Given the description of an element on the screen output the (x, y) to click on. 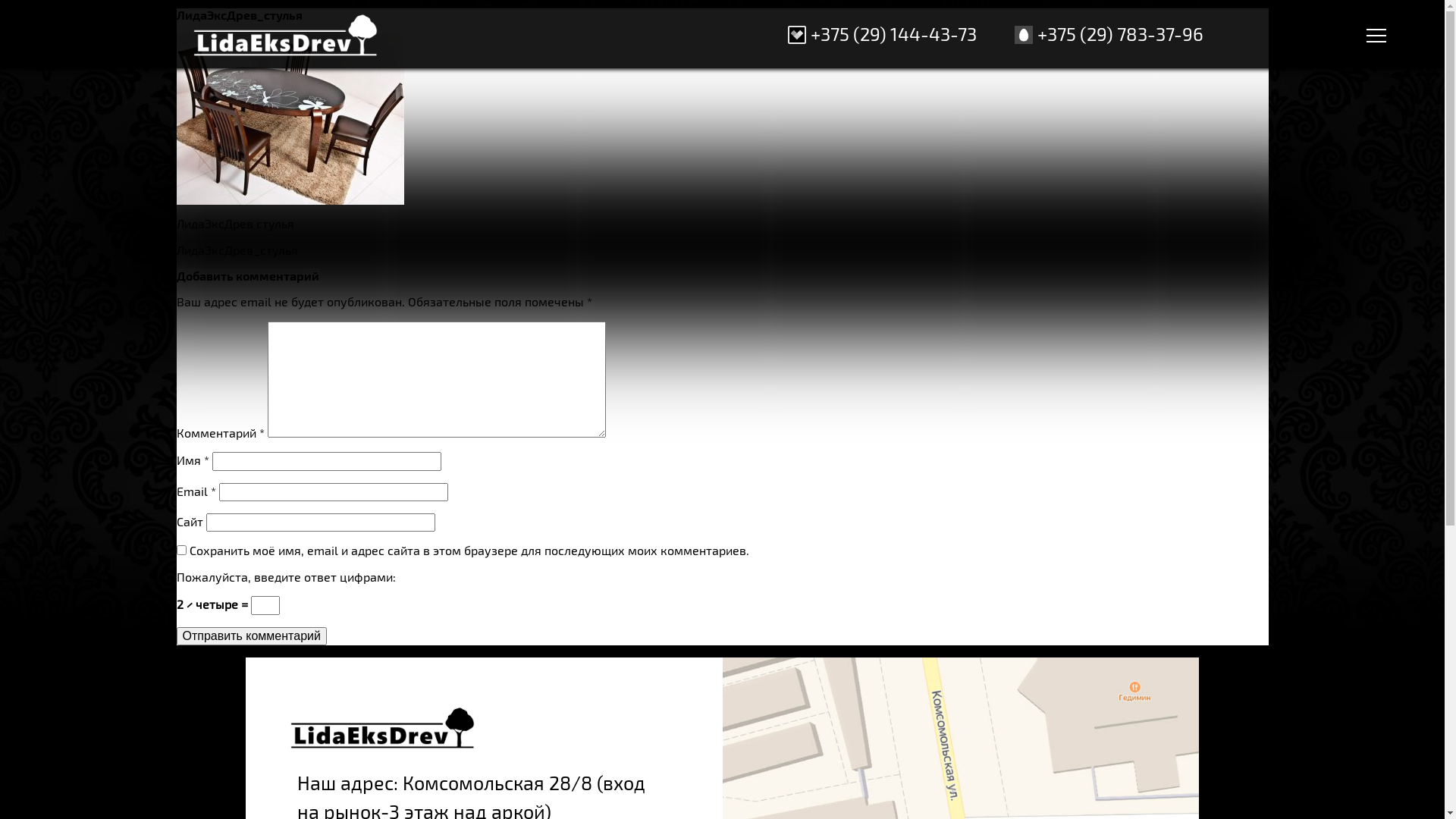
menu Element type: text (1369, 32)
+375 (29) 783-37-96 Element type: text (1120, 33)
+375 (29) 144-43-73 Element type: text (892, 33)
